Given the description of an element on the screen output the (x, y) to click on. 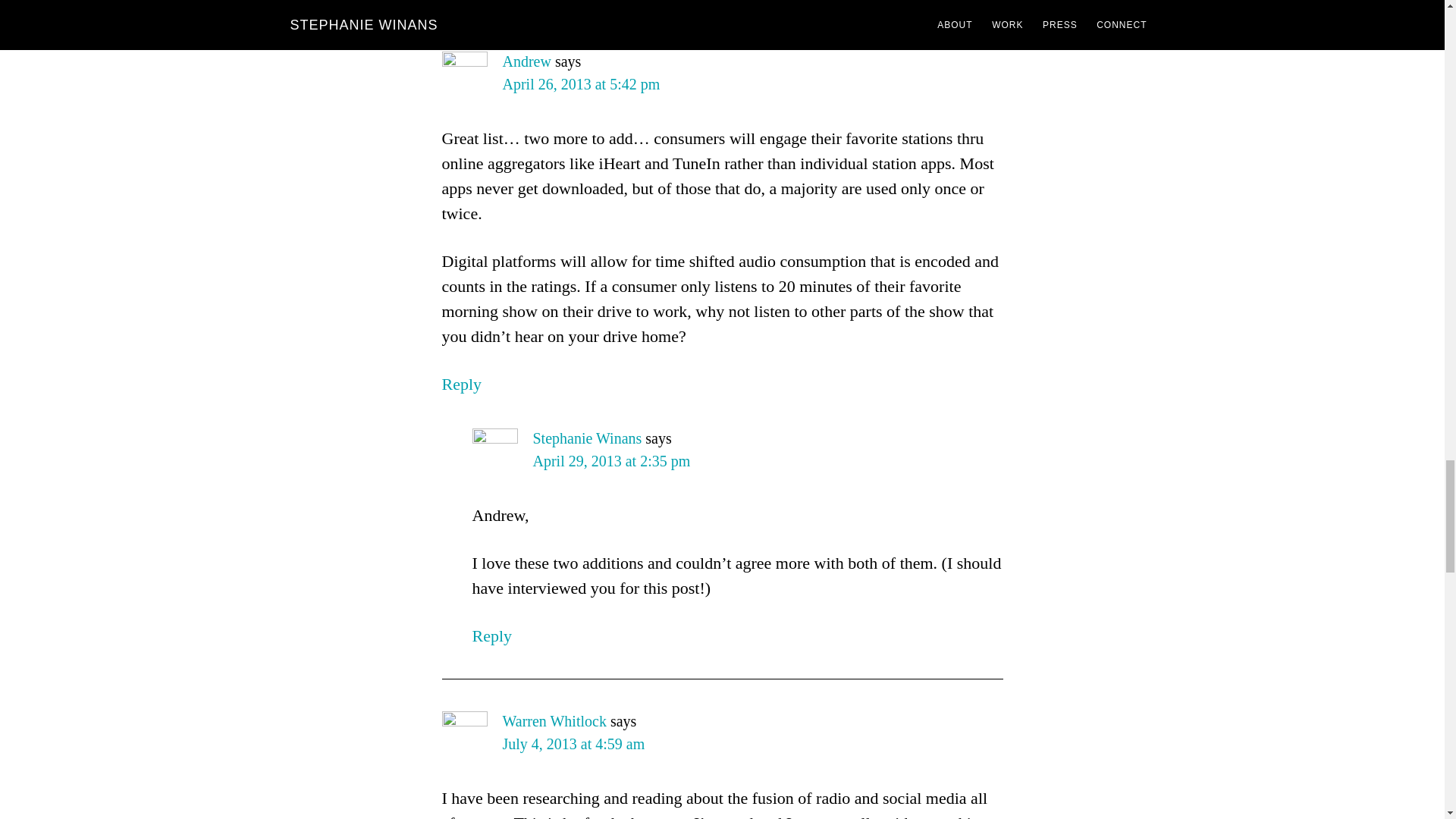
April 29, 2013 at 2:35 pm (611, 460)
April 26, 2013 at 5:42 pm (580, 84)
July 4, 2013 at 4:59 am (573, 743)
Reply (491, 635)
Warren Whitlock (553, 720)
Andrew (526, 61)
Stephanie Winans (587, 437)
Reply (461, 383)
